Given the description of an element on the screen output the (x, y) to click on. 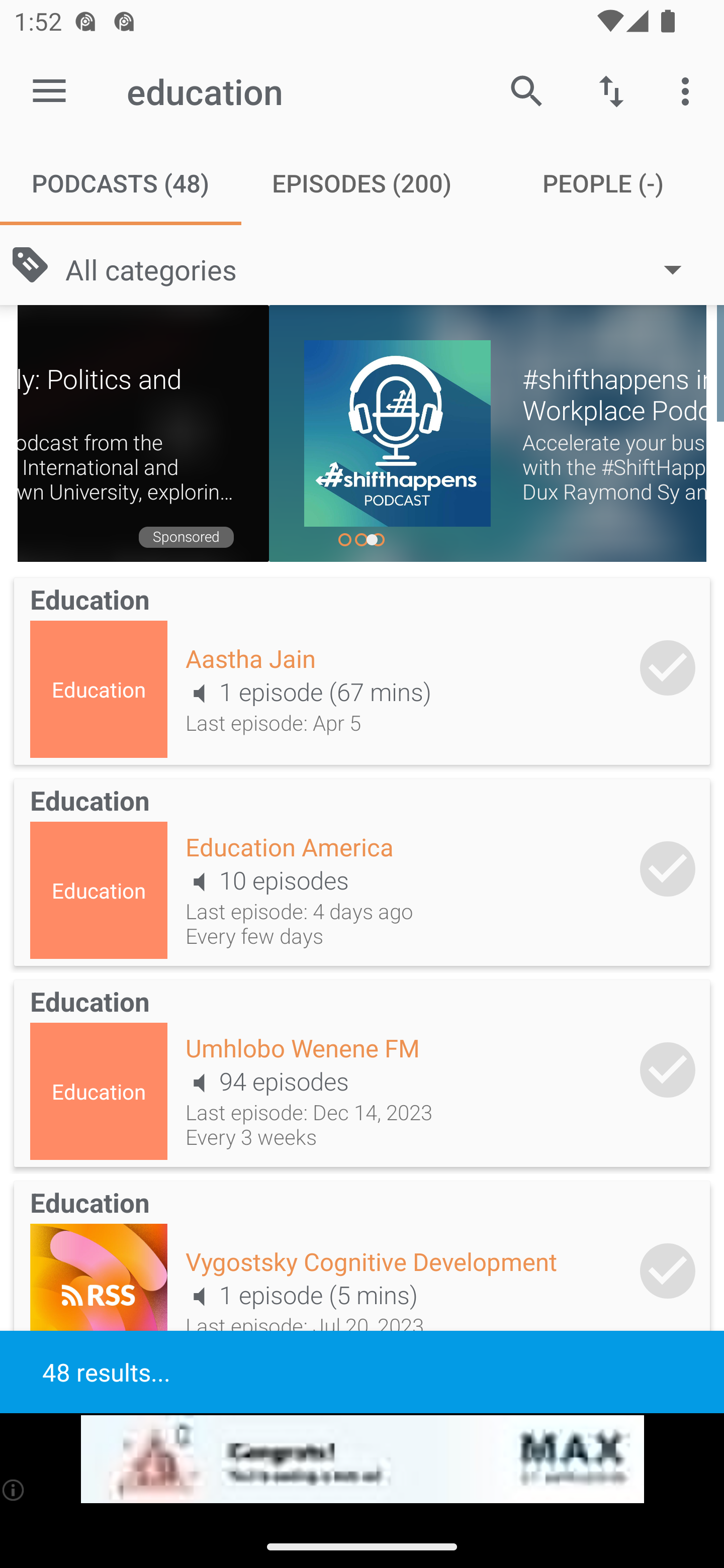
Open navigation sidebar (49, 91)
Search (526, 90)
Sort (611, 90)
More options (688, 90)
Episodes (200) EPISODES (200) (361, 183)
People (-) PEOPLE (-) (603, 183)
All categories (383, 268)
Add (667, 667)
Add (667, 868)
Add (667, 1069)
Add (667, 1271)
app-monetization (362, 1459)
(i) (14, 1489)
